Given the description of an element on the screen output the (x, y) to click on. 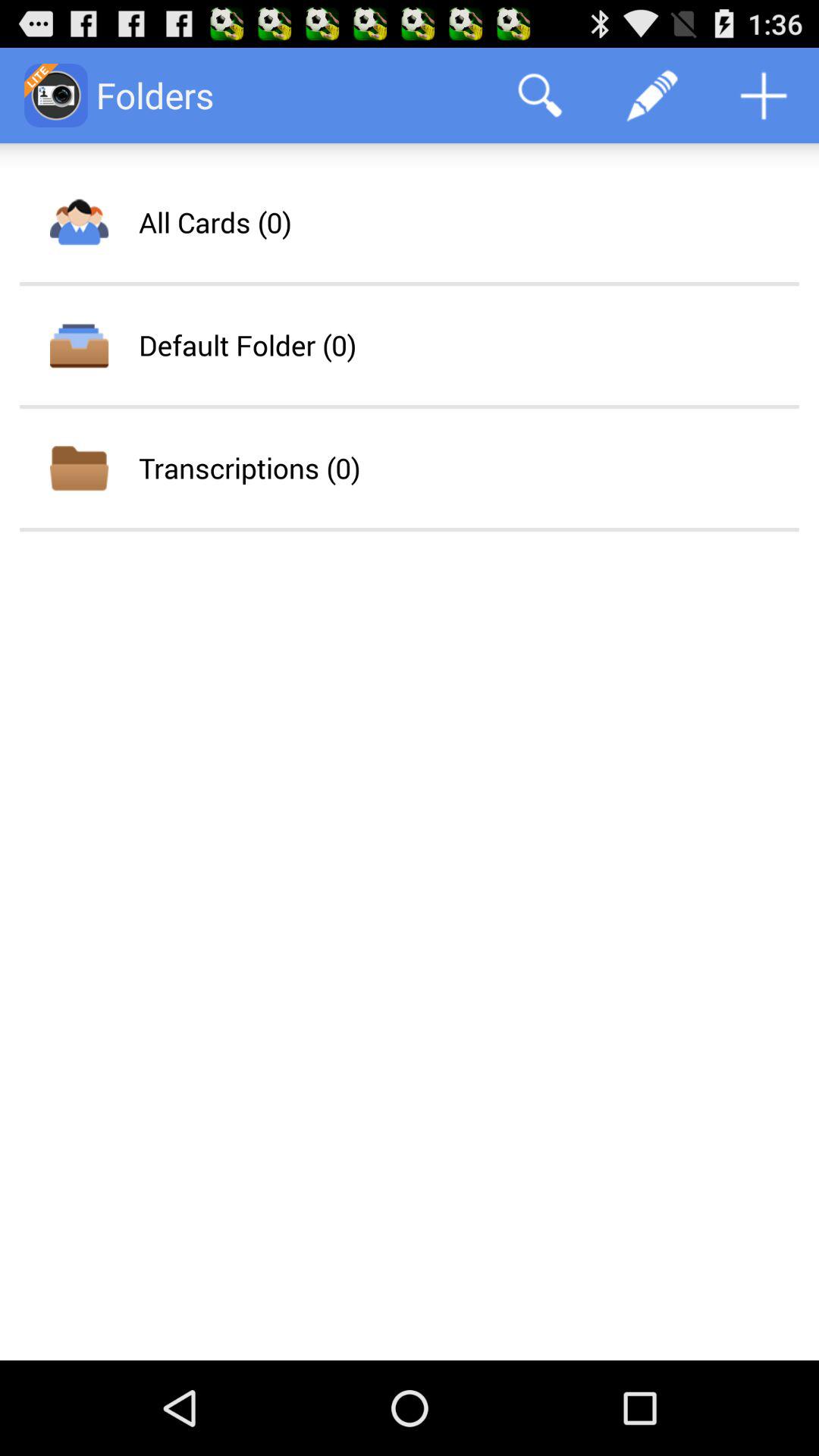
click item next to the folders item (540, 95)
